Given the description of an element on the screen output the (x, y) to click on. 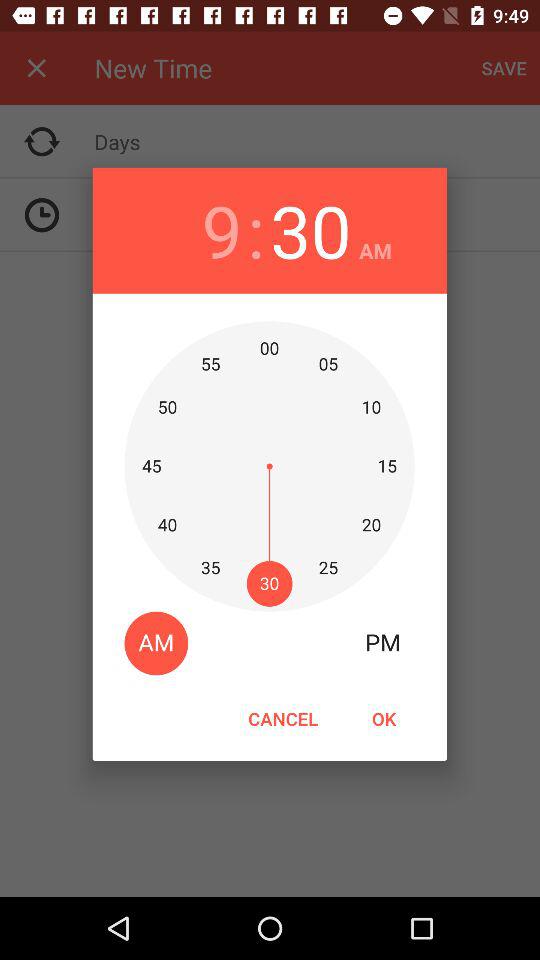
press the item to the right of the : icon (310, 230)
